Given the description of an element on the screen output the (x, y) to click on. 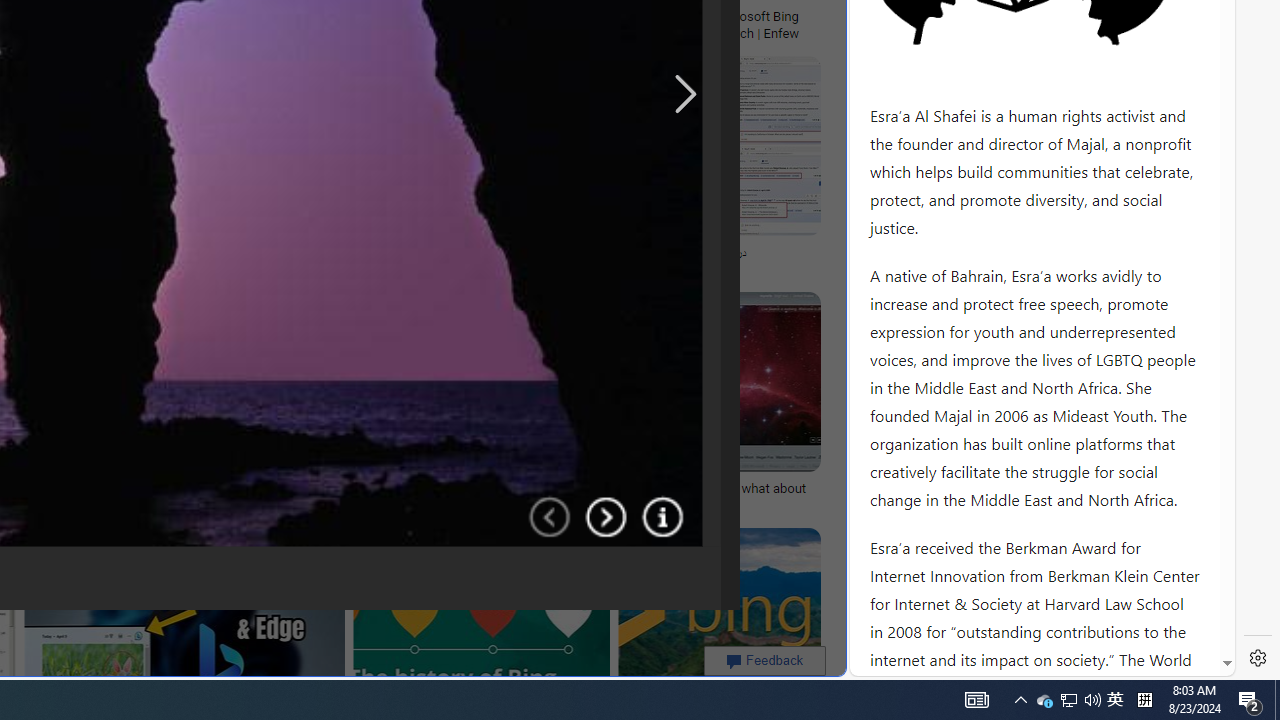
Remove the 'News & Interests' bar from Bing | TechLife (228, 16)
Remove the 'News & Interests' bar from Bing | TechLife (233, 16)
Bing (2009) (RARE/FAKE) - YouTube (345, 253)
microsoft bing (463, 16)
Bing (2009) (RARE/FAKE) - YouTubeSave (381, 169)
Bing (2009) (RARE/FAKE) - YouTube (377, 253)
